Given the description of an element on the screen output the (x, y) to click on. 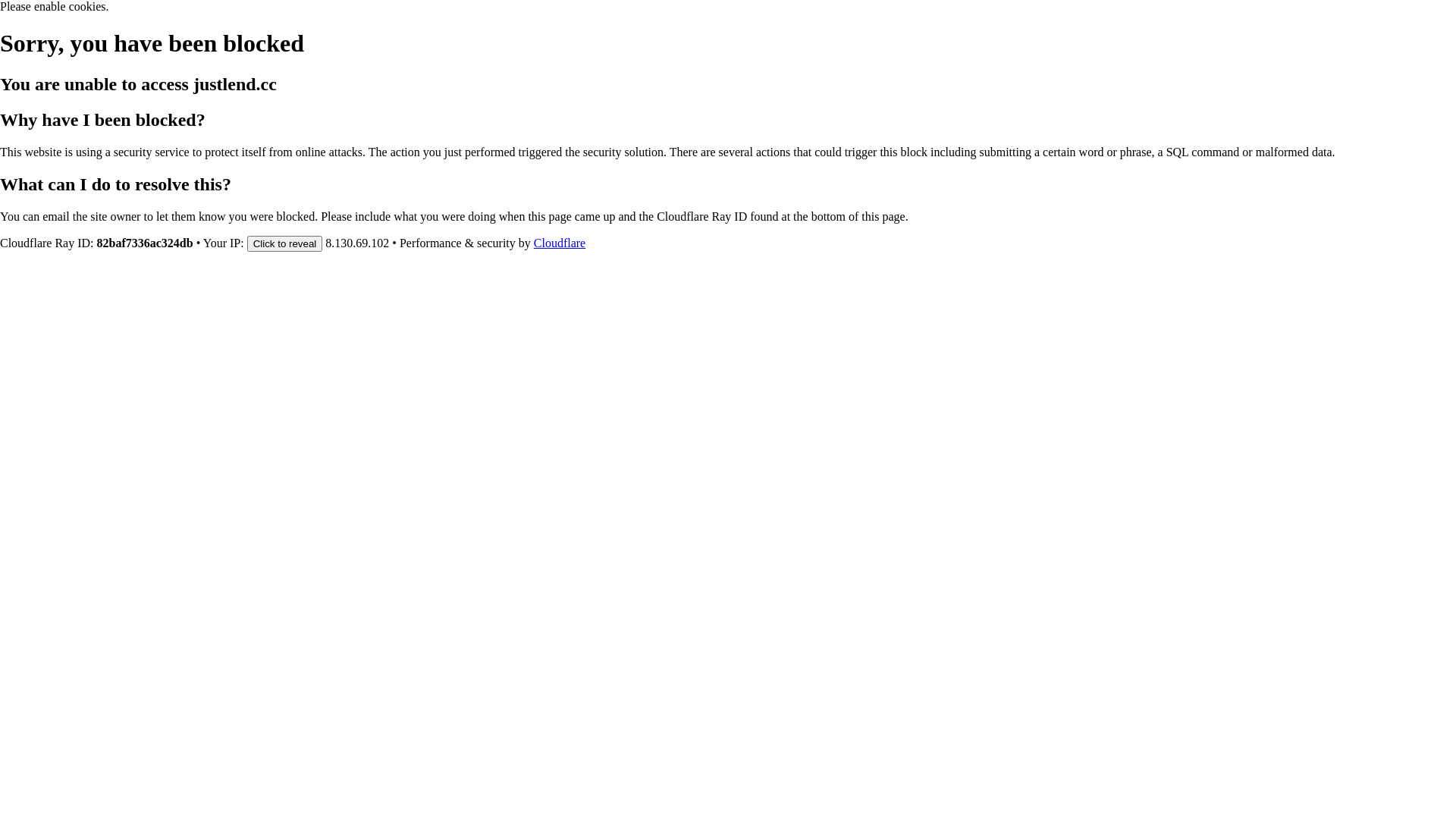
Cloudflare Element type: text (559, 242)
Click to reveal Element type: text (285, 243)
